Given the description of an element on the screen output the (x, y) to click on. 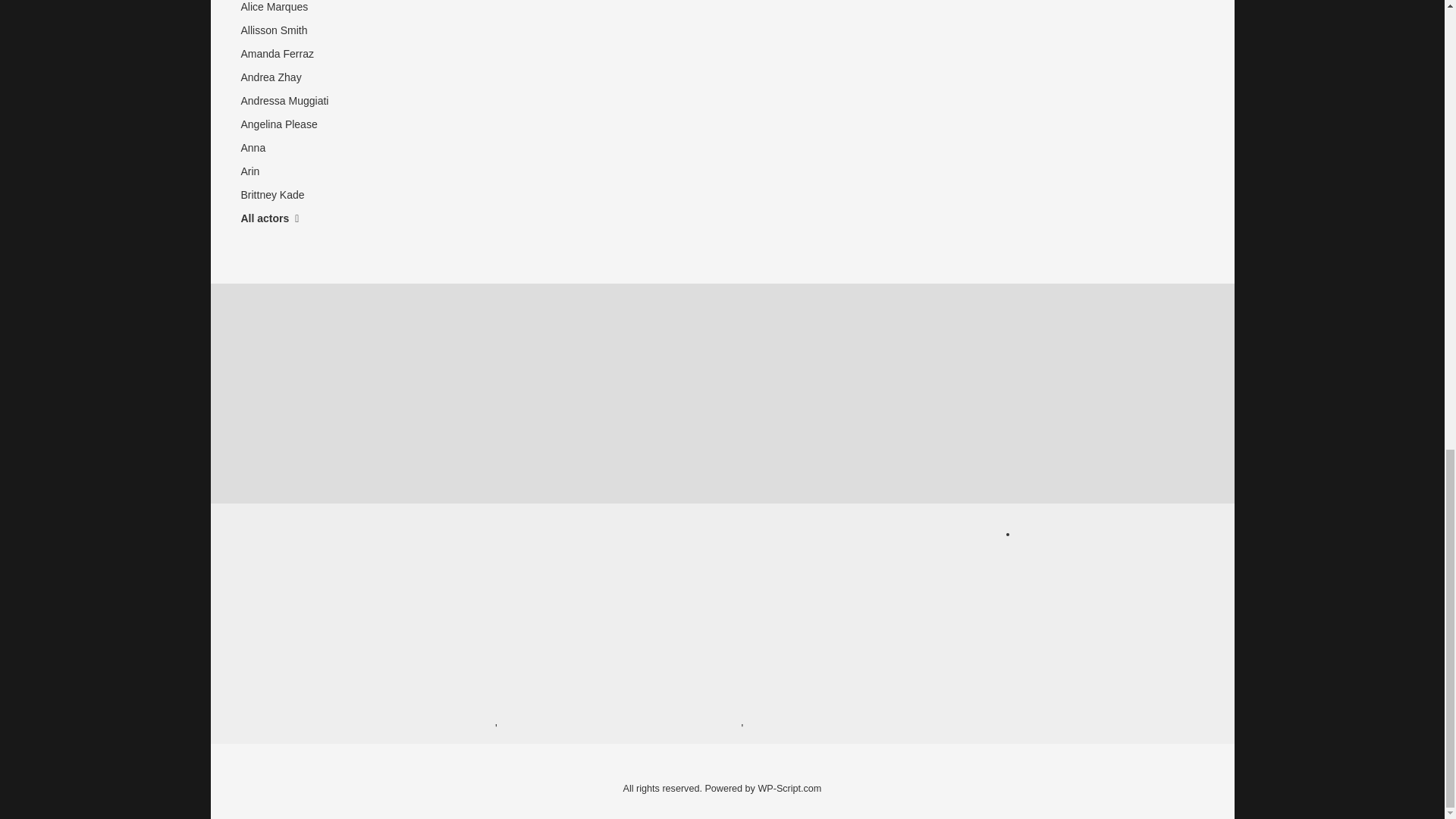
Andrea Zhay (285, 77)
Alice Marques (285, 9)
All actors (285, 218)
Allisson Smith (285, 30)
Amanda Ferraz (285, 54)
